Given the description of an element on the screen output the (x, y) to click on. 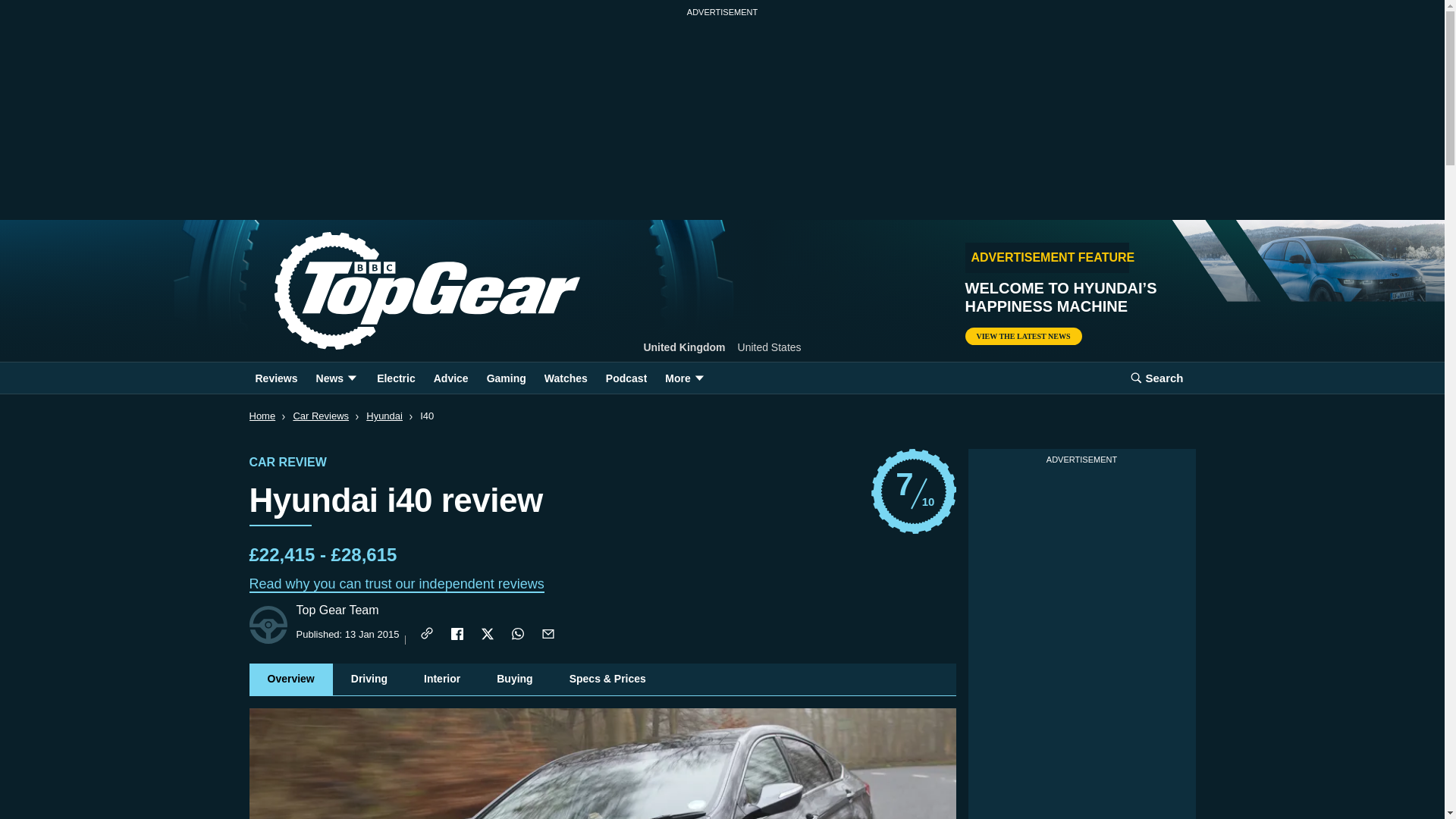
Gaming (506, 377)
Search (1156, 377)
Car Reviews (320, 415)
News (912, 490)
VIEW THE LATEST NEWS (337, 377)
Home (1022, 335)
Home (401, 290)
Search (261, 415)
More (1156, 377)
